Given the description of an element on the screen output the (x, y) to click on. 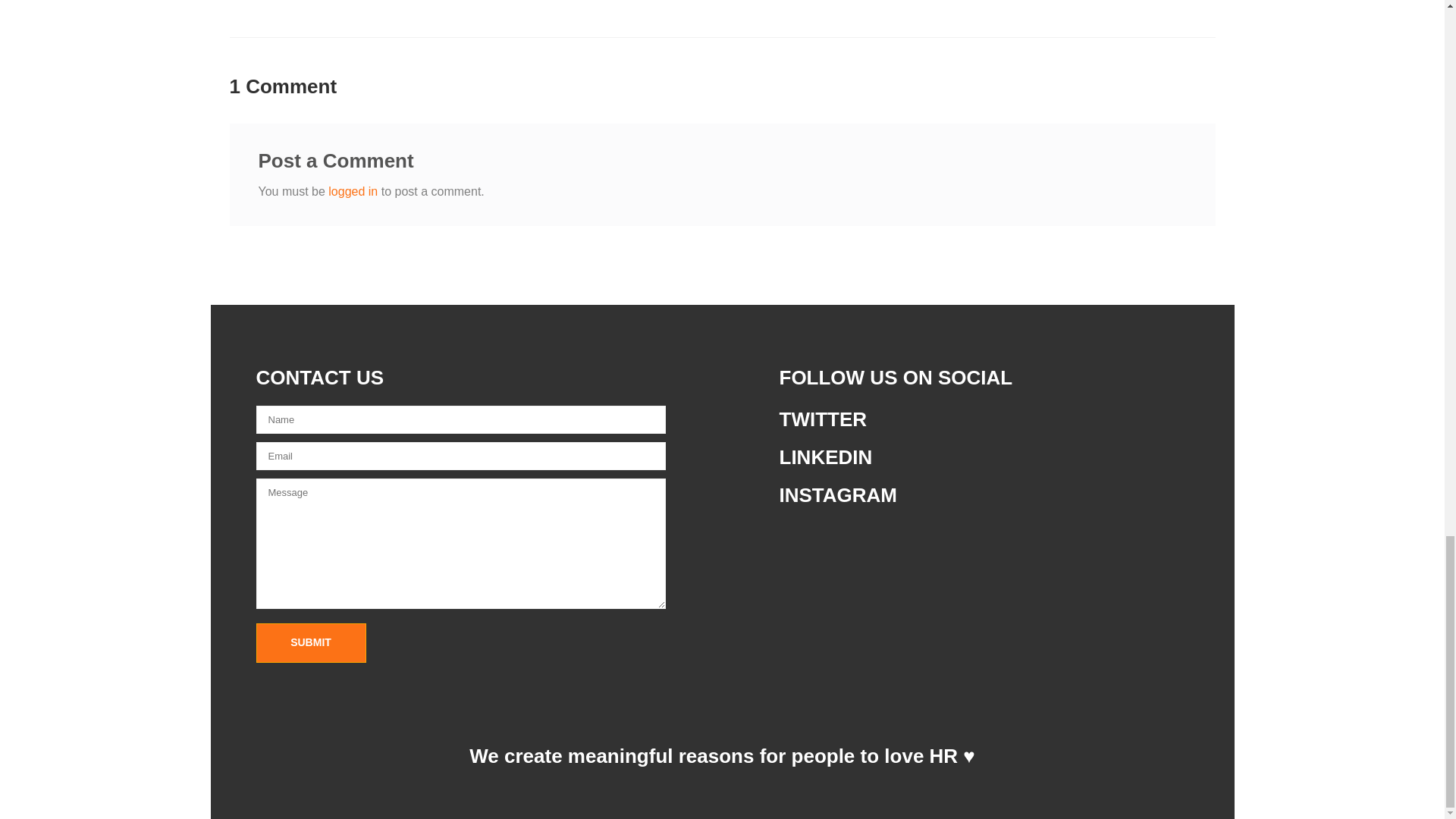
Submit (311, 642)
